Given the description of an element on the screen output the (x, y) to click on. 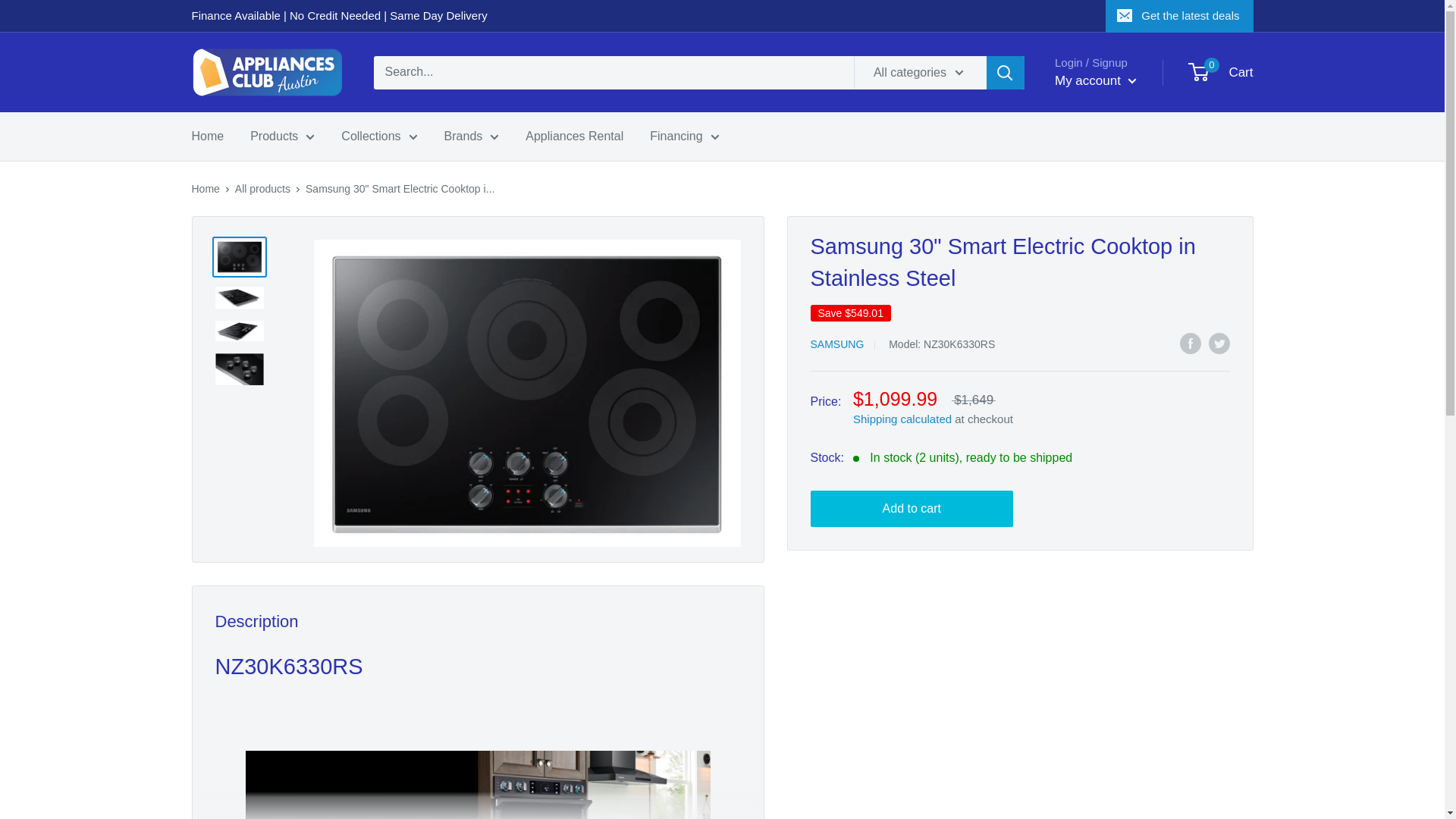
Get the latest deals (1178, 15)
